Given the description of an element on the screen output the (x, y) to click on. 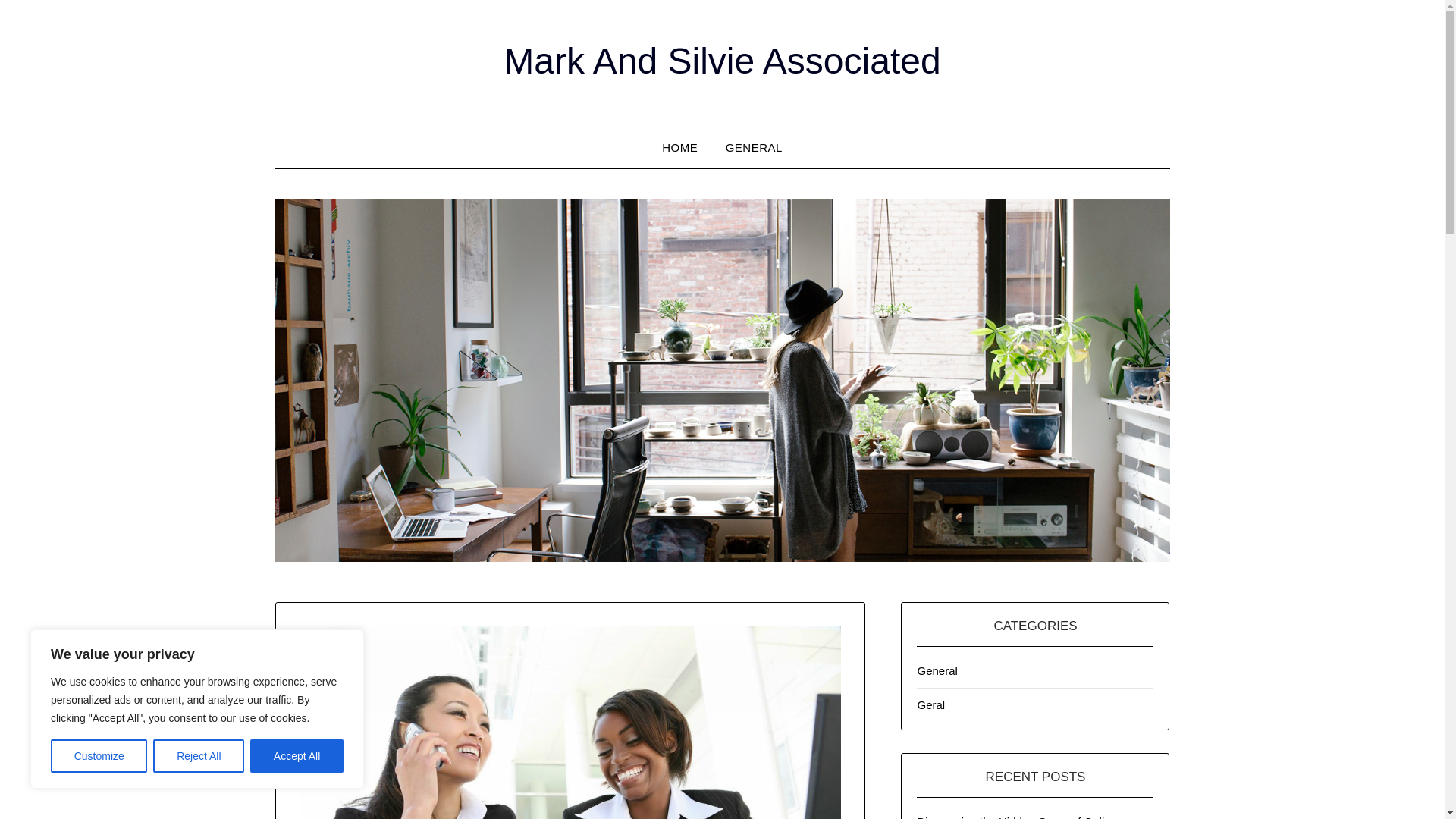
HOME (679, 147)
Geral (930, 704)
GENERAL (753, 147)
Accept All (296, 756)
Reject All (198, 756)
Discovering the Hidden Gems of Online Marketplaces (1016, 816)
Mark And Silvie Associated (721, 60)
General (936, 670)
Customize (98, 756)
